Given the description of an element on the screen output the (x, y) to click on. 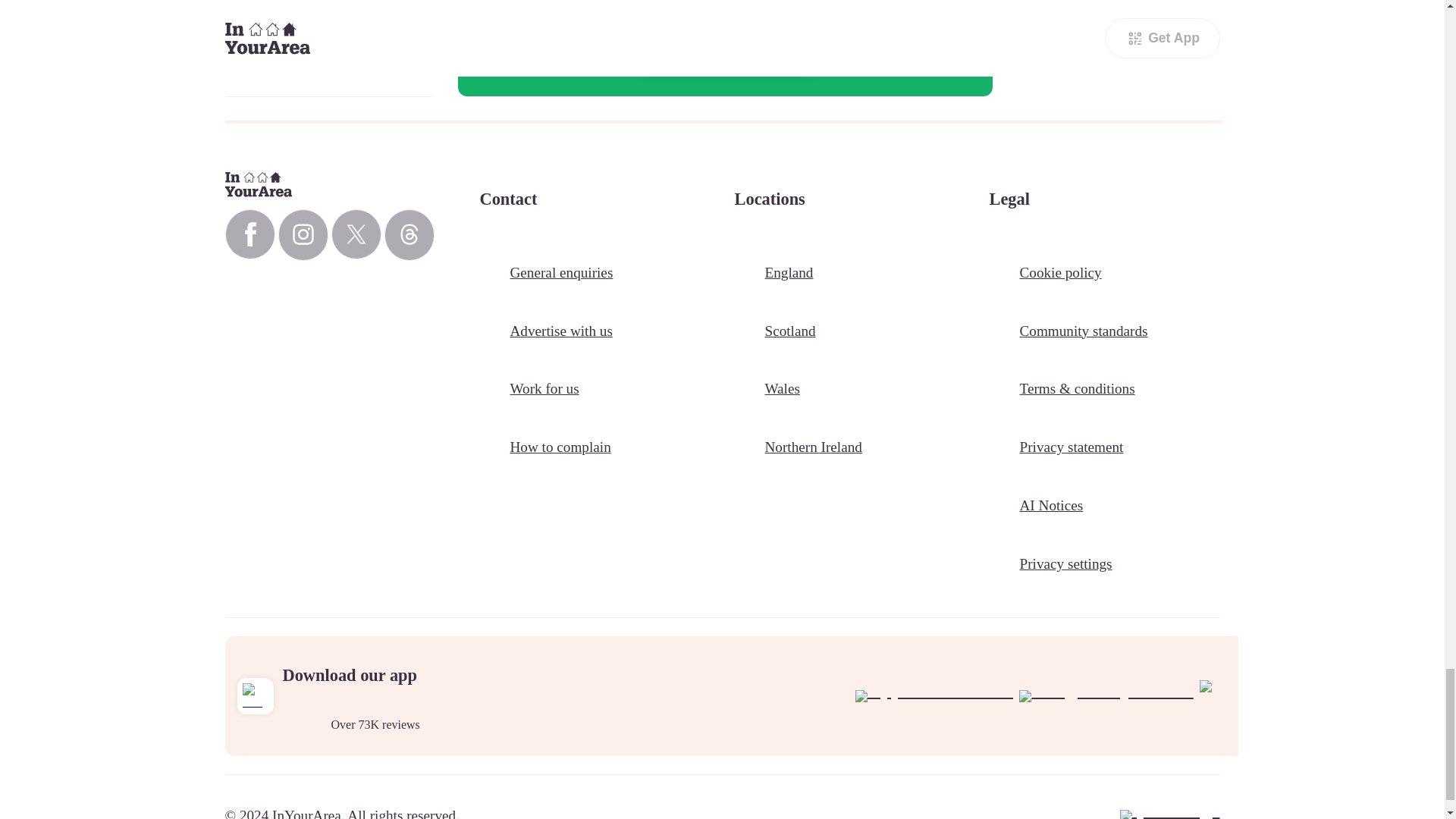
InYourArea X (355, 234)
InYourArea Instagram (302, 235)
InYourArea Threads (408, 235)
InYourArea Facebook (249, 234)
